Given the description of an element on the screen output the (x, y) to click on. 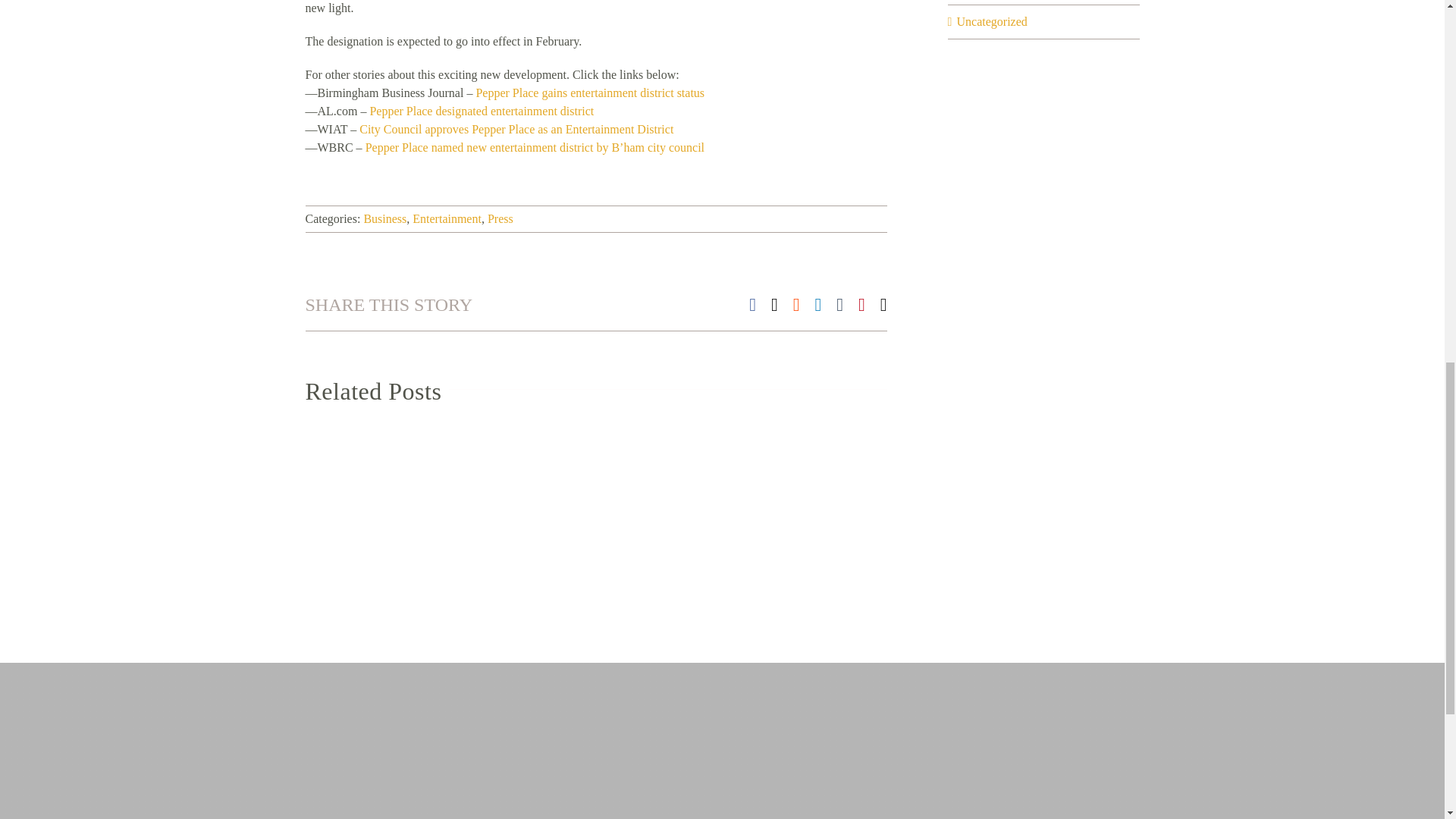
Press (500, 218)
Pepper Place designated entertainment district (481, 110)
Entertainment (446, 218)
Business (384, 218)
Pepper Place gains entertainment district status (590, 92)
